Given the description of an element on the screen output the (x, y) to click on. 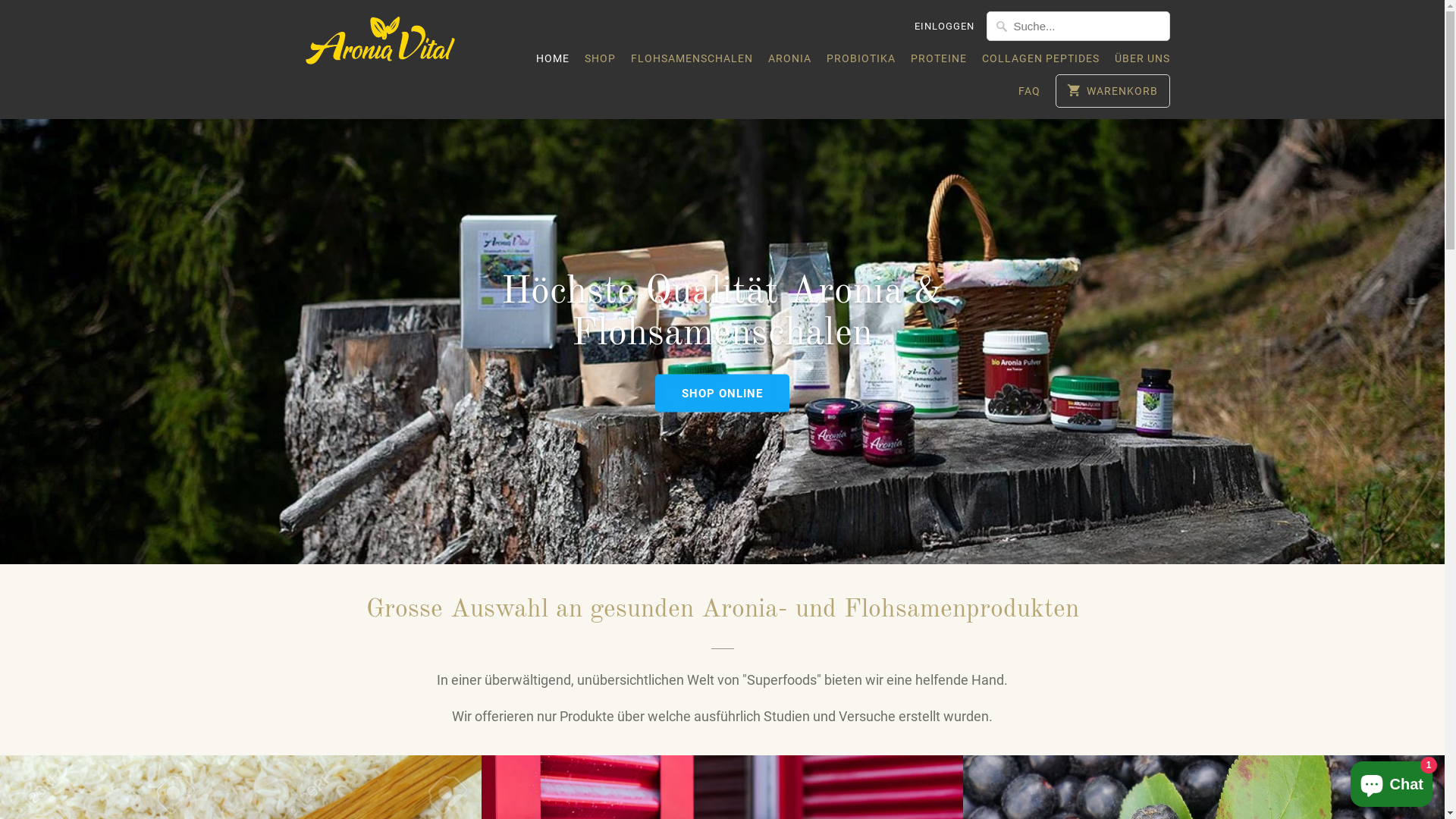
WARENKORB Element type: text (1112, 90)
COLLAGEN PEPTIDES Element type: text (1039, 62)
Aronia Vital Element type: hover (380, 45)
PROTEINE Element type: text (938, 62)
ARONIA Element type: text (788, 62)
PROBIOTIKA Element type: text (860, 62)
SHOP ONLINE Element type: text (722, 392)
FLOHSAMENSCHALEN Element type: text (691, 62)
FAQ Element type: text (1029, 94)
Onlineshop-Chat von Shopify Element type: hover (1391, 780)
HOME Element type: text (551, 62)
SHOP Element type: text (599, 62)
EINLOGGEN Element type: text (944, 26)
